Given the description of an element on the screen output the (x, y) to click on. 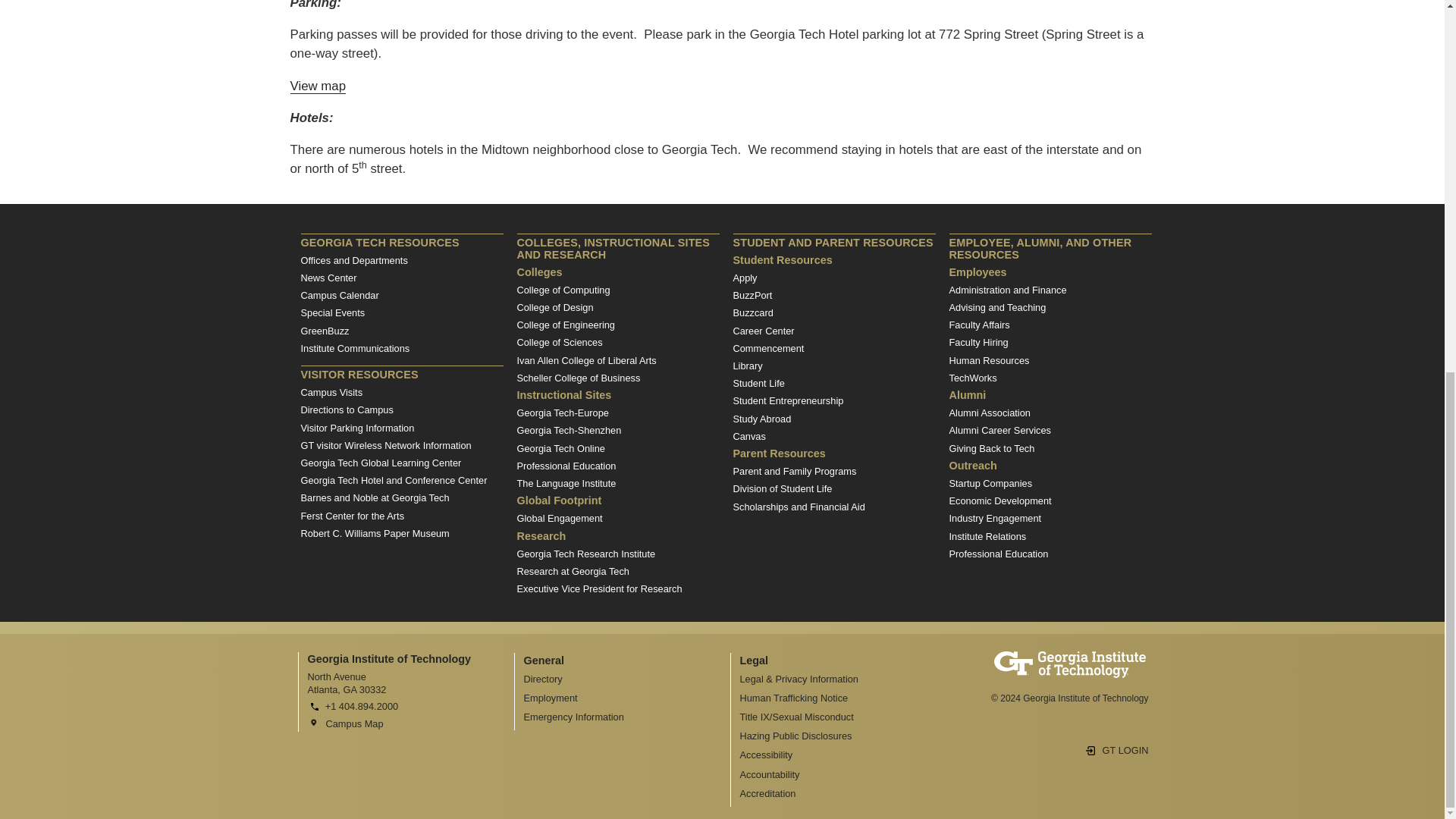
Special Events (332, 312)
Campus Calendar (338, 295)
Offices and Departments (353, 260)
View map (317, 85)
GEORGIA TECH RESOURCES (400, 241)
News Center (327, 277)
